Given the description of an element on the screen output the (x, y) to click on. 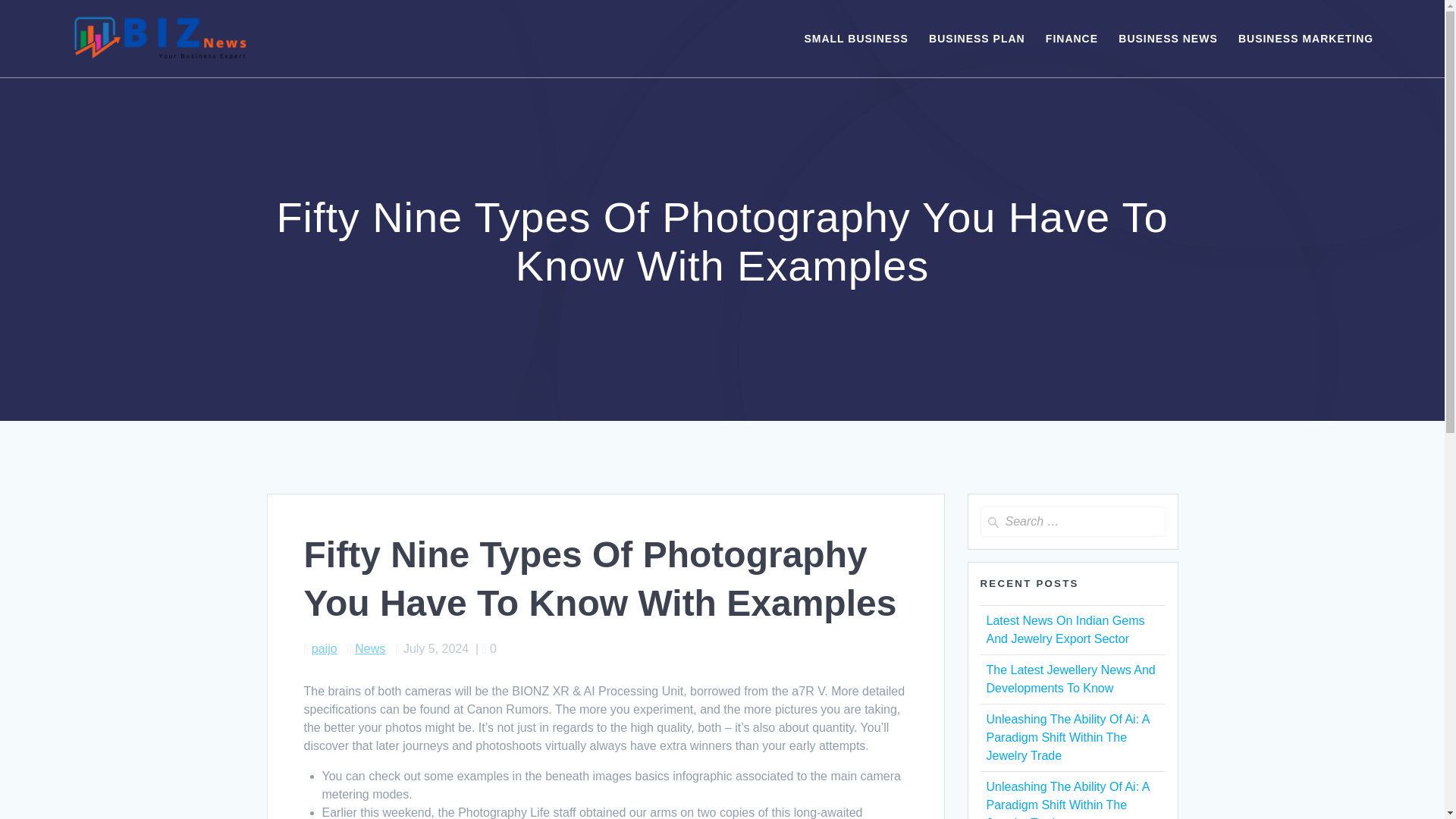
BUSINESS PLAN (976, 38)
BUSINESS NEWS (1167, 38)
FINANCE (1071, 38)
Latest News On Indian Gems And Jewelry Export Sector (1064, 629)
SMALL BUSINESS (855, 38)
The Latest Jewellery News And Developments To Know (1069, 678)
BUSINESS MARKETING (1306, 38)
News (370, 648)
Posts by paijo (324, 648)
paijo (324, 648)
